Given the description of an element on the screen output the (x, y) to click on. 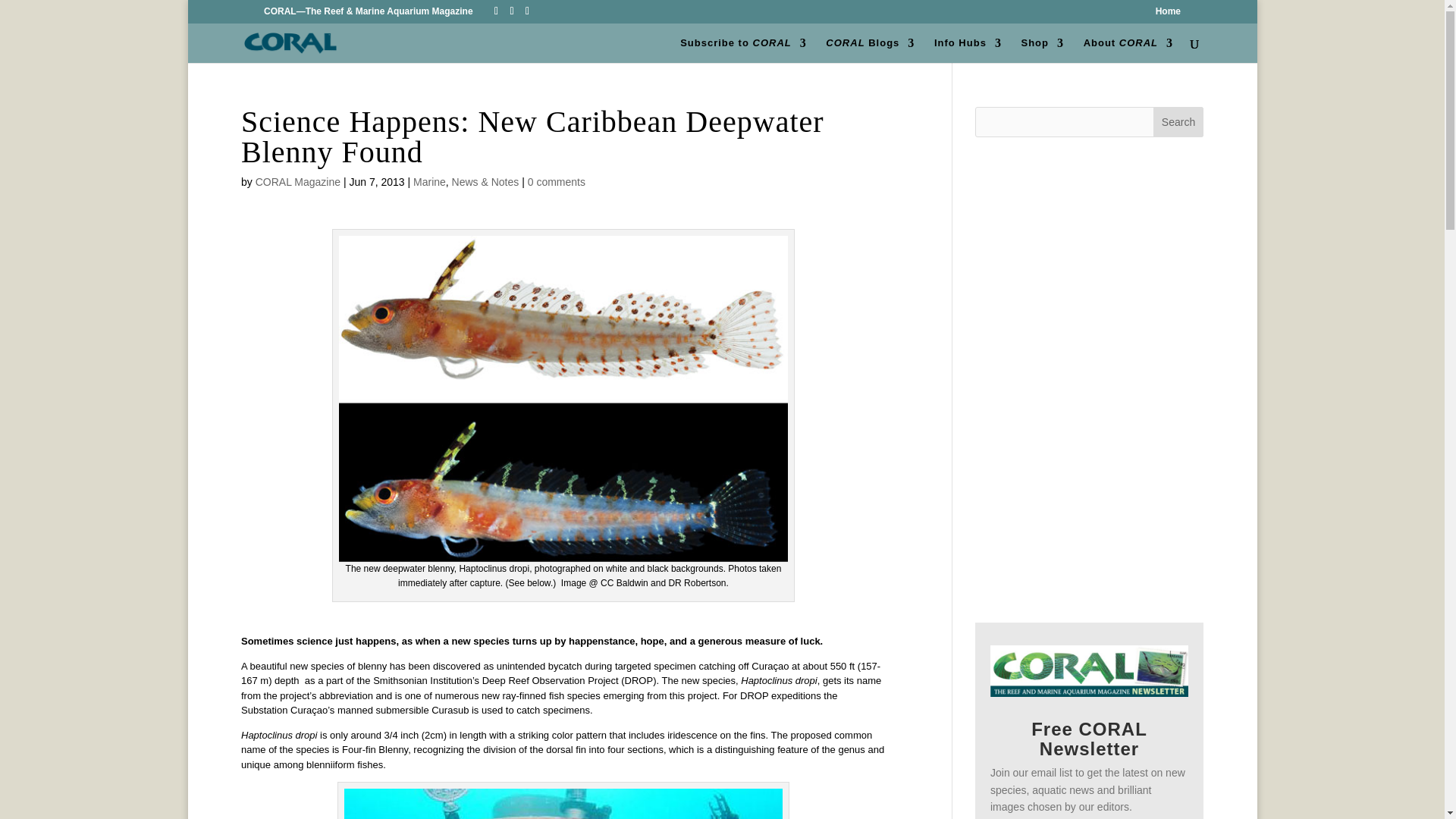
Visit our online store for CORAL Magazine (1042, 50)
Home (1168, 14)
Info Hubs (967, 50)
CORAL Blogs (869, 50)
Subscribe to CORAL Magazine (742, 50)
Learn more about CORAL Magazine (1128, 50)
Subscribe to CORAL (742, 50)
